Given the description of an element on the screen output the (x, y) to click on. 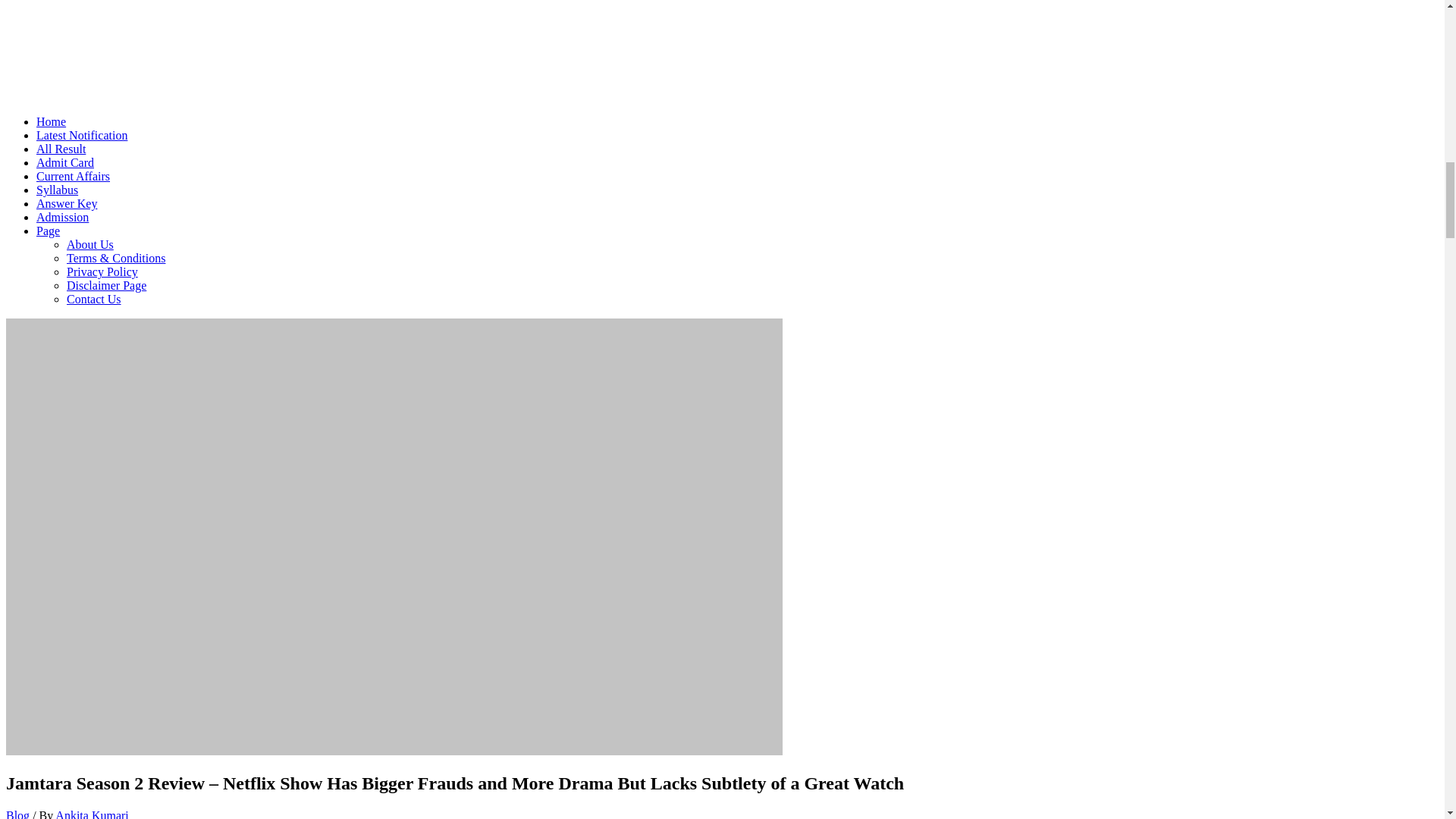
View all posts by Ankita Kumari (91, 814)
Ankita Kumari (91, 814)
Disclaimer Page (106, 285)
Answer Key (66, 203)
Syllabus (57, 189)
Latest Notification (82, 134)
Home (50, 121)
Admission (62, 216)
All Result (60, 148)
Admit Card (65, 162)
